Given the description of an element on the screen output the (x, y) to click on. 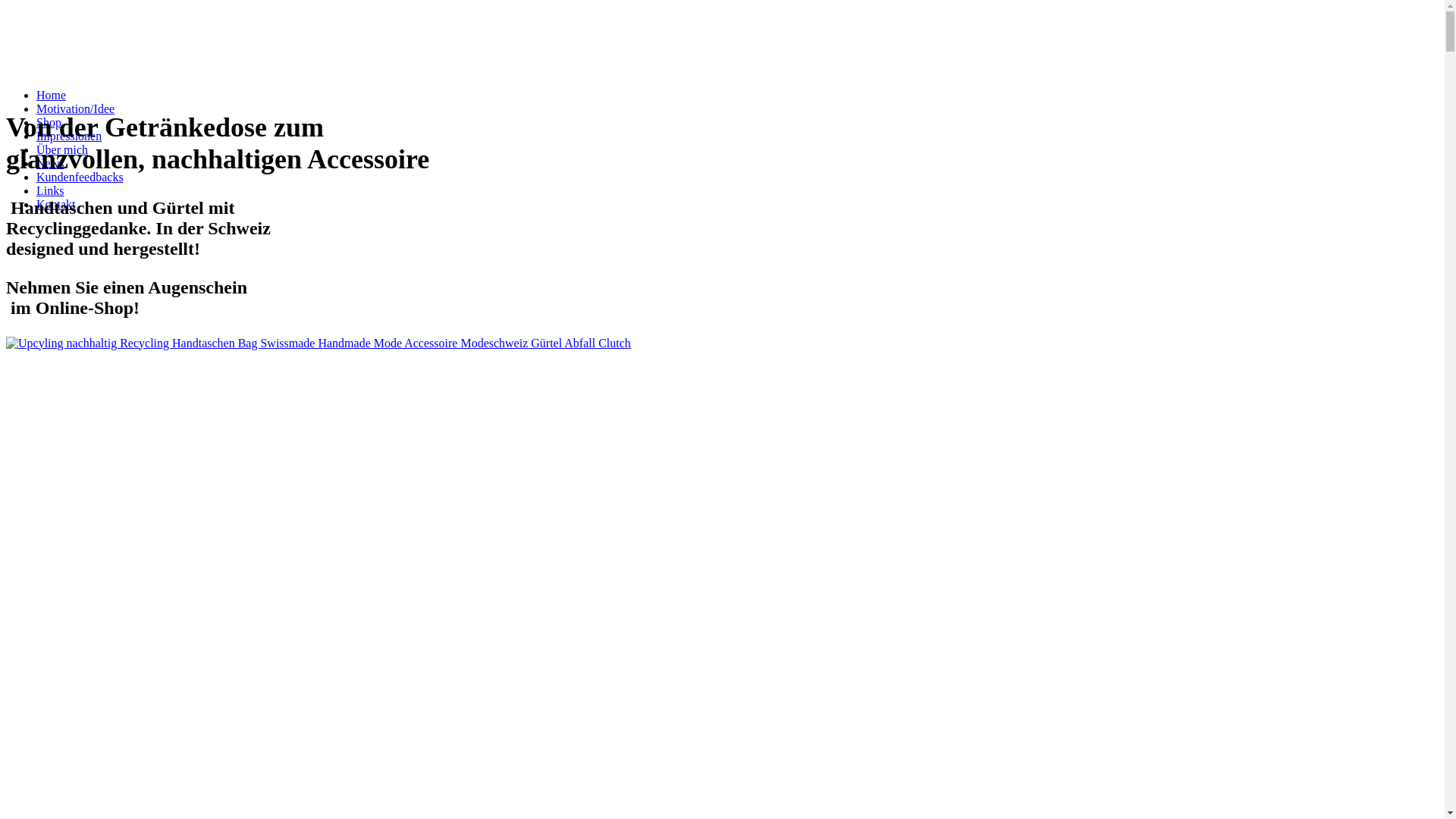
Home Element type: text (50, 94)
Links Element type: text (49, 190)
Kundenfeedbacks Element type: text (79, 176)
Shop Element type: text (48, 122)
Motivation/Idee Element type: text (75, 108)
Kontakt Element type: text (55, 203)
Impressionen Element type: text (68, 135)
News Element type: text (49, 162)
